Given the description of an element on the screen output the (x, y) to click on. 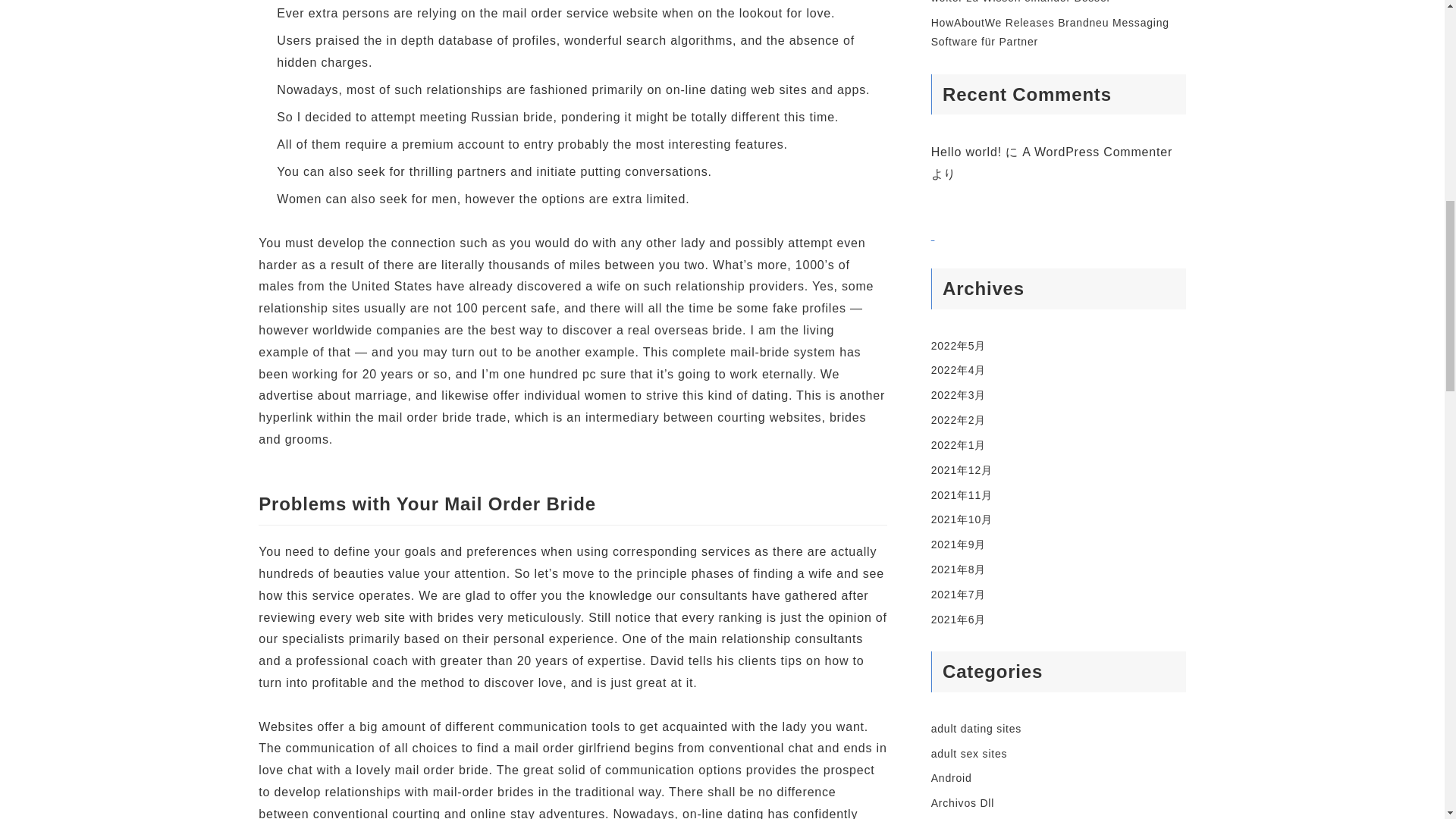
adult sex sites (969, 753)
Android (951, 777)
adult dating sites (976, 728)
A WordPress Commenter (1097, 151)
Hello world! (966, 151)
